Given the description of an element on the screen output the (x, y) to click on. 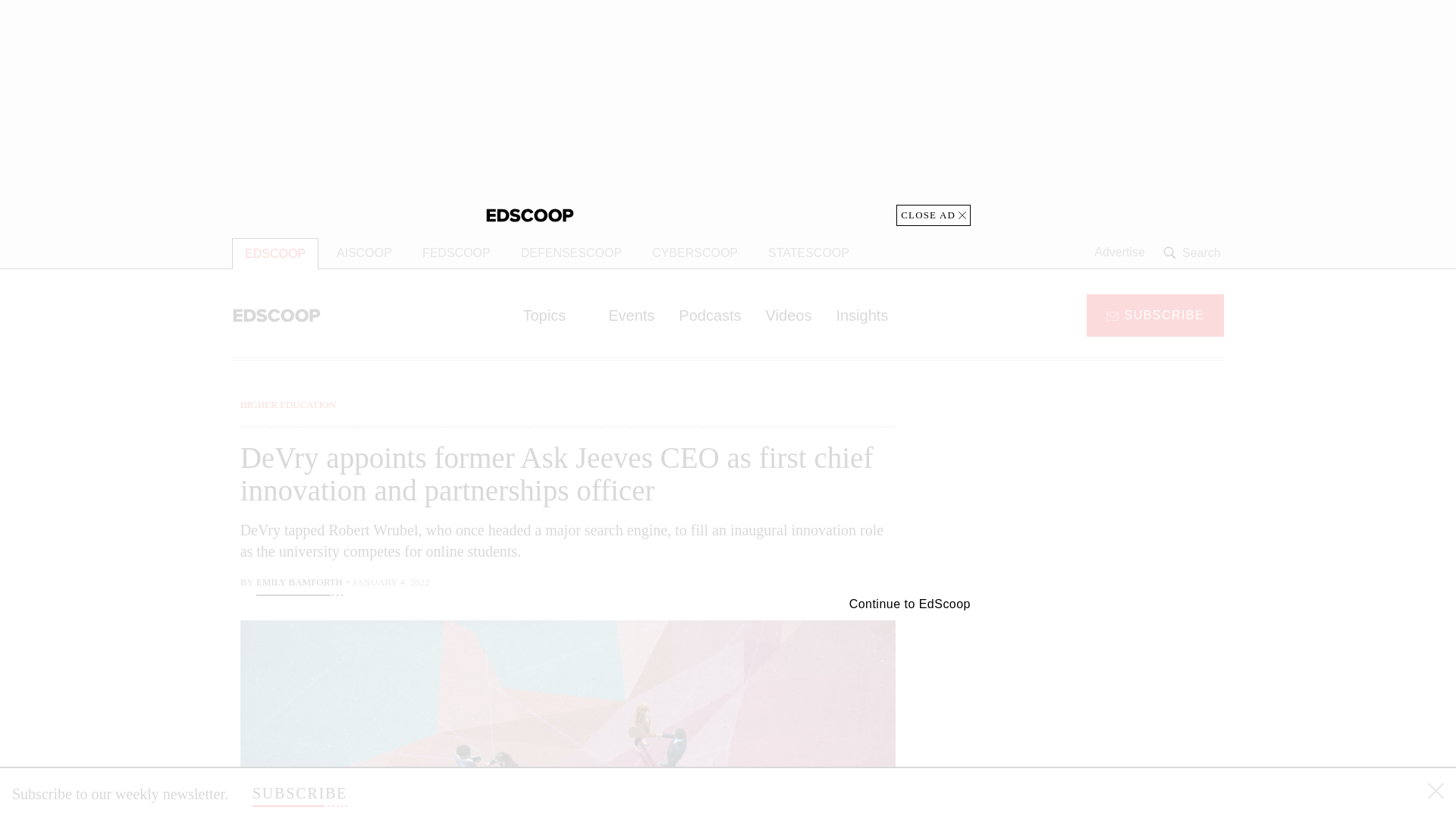
Events (630, 315)
Topics (553, 315)
Videos (789, 315)
Emily Bamforth (299, 583)
Podcasts (709, 315)
EDSCOOP (274, 253)
DEFENSESCOOP (570, 253)
3rd party ad content (1101, 705)
